Given the description of an element on the screen output the (x, y) to click on. 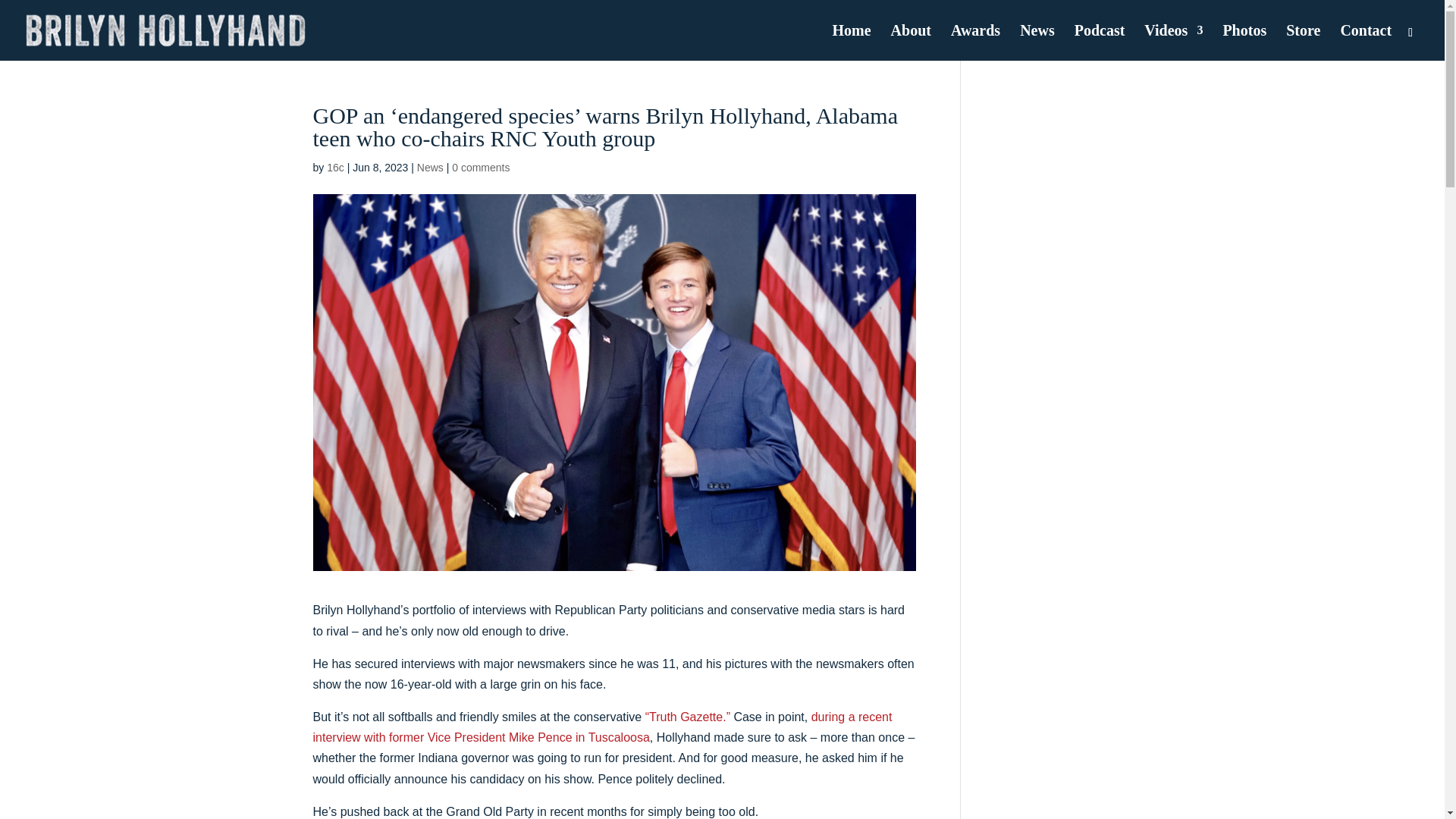
Posts by 16c (334, 167)
Podcast (1099, 42)
News (430, 167)
0 comments (480, 167)
Home (851, 42)
Contact (1365, 42)
Videos (1173, 42)
16c (334, 167)
News (1037, 42)
in Tuscaloosa (612, 737)
Store (1302, 42)
Photos (1244, 42)
About (911, 42)
Awards (975, 42)
